Given the description of an element on the screen output the (x, y) to click on. 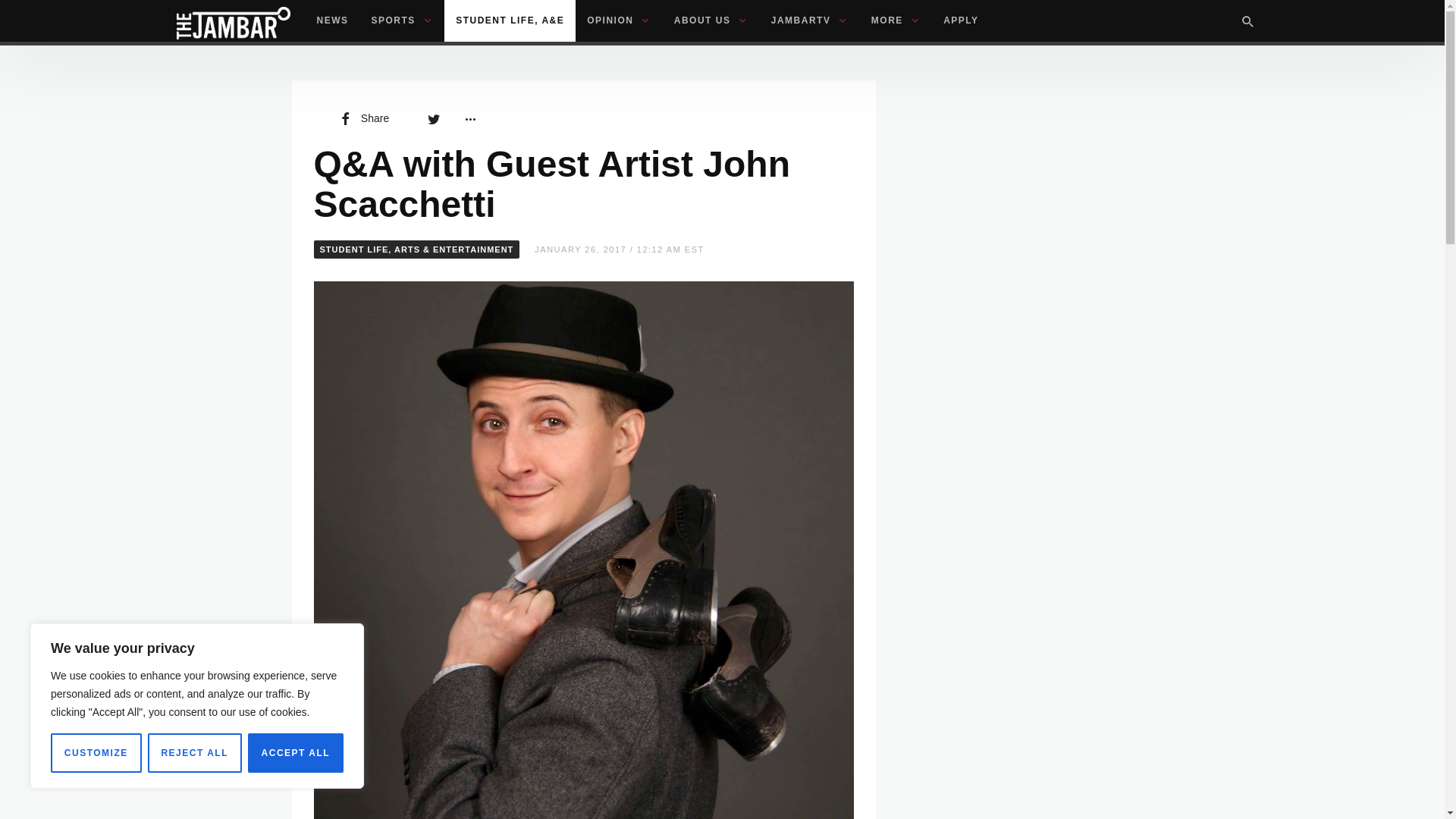
More (469, 118)
ABOUT US (711, 20)
SPORTS (401, 20)
Share on Twitter (433, 118)
NEWS (331, 20)
Share on Facebook (363, 118)
REJECT ALL (194, 753)
JAMBARTV (810, 20)
ACCEPT ALL (295, 753)
MORE (895, 20)
